Given the description of an element on the screen output the (x, y) to click on. 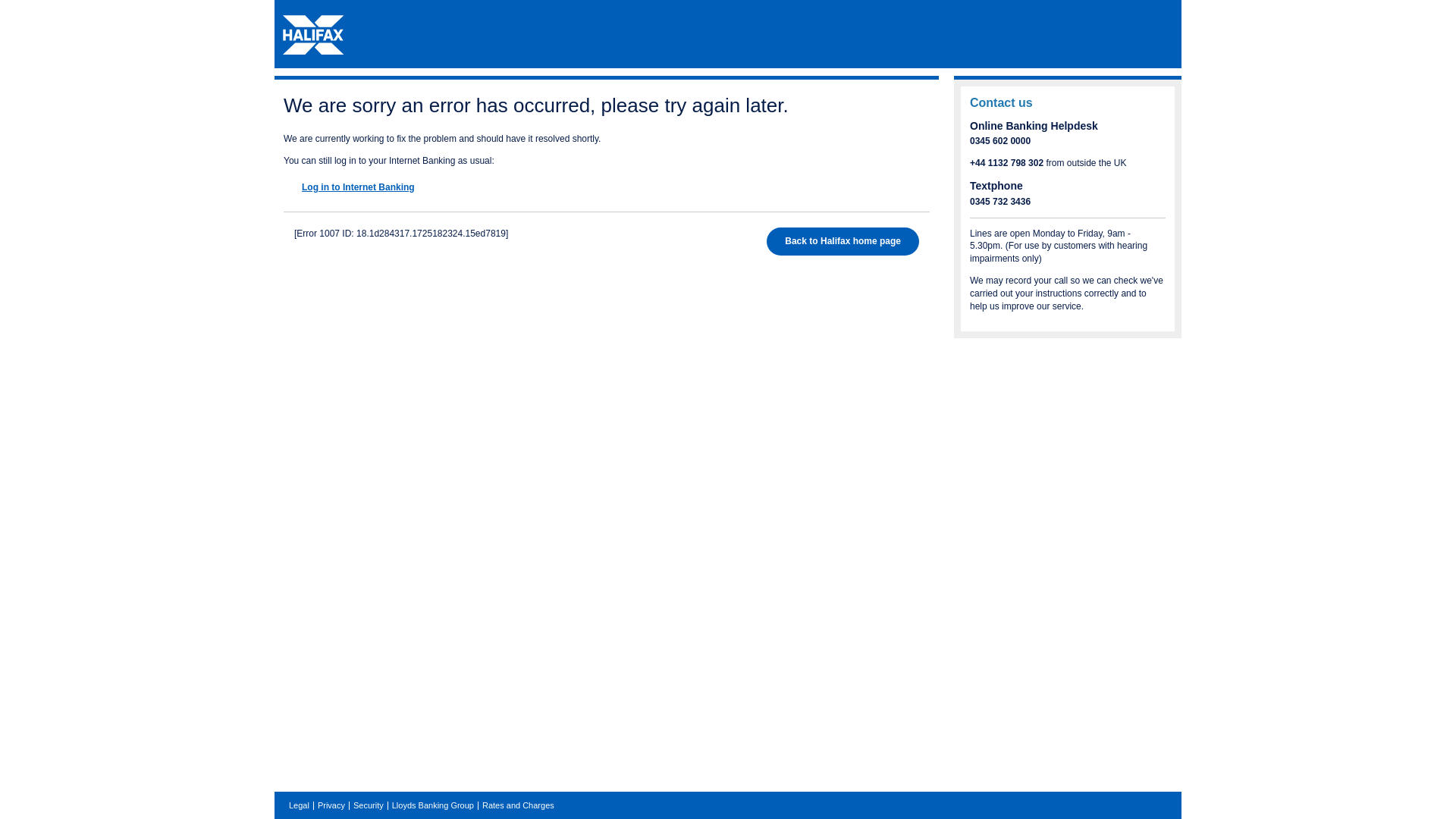
Legal (298, 804)
Lloyds Banking Group (432, 804)
Security (368, 804)
Privacy (331, 804)
Back to Halifax home page (842, 241)
Rates and Charges (517, 804)
Log in to Internet Banking (376, 187)
